Given the description of an element on the screen output the (x, y) to click on. 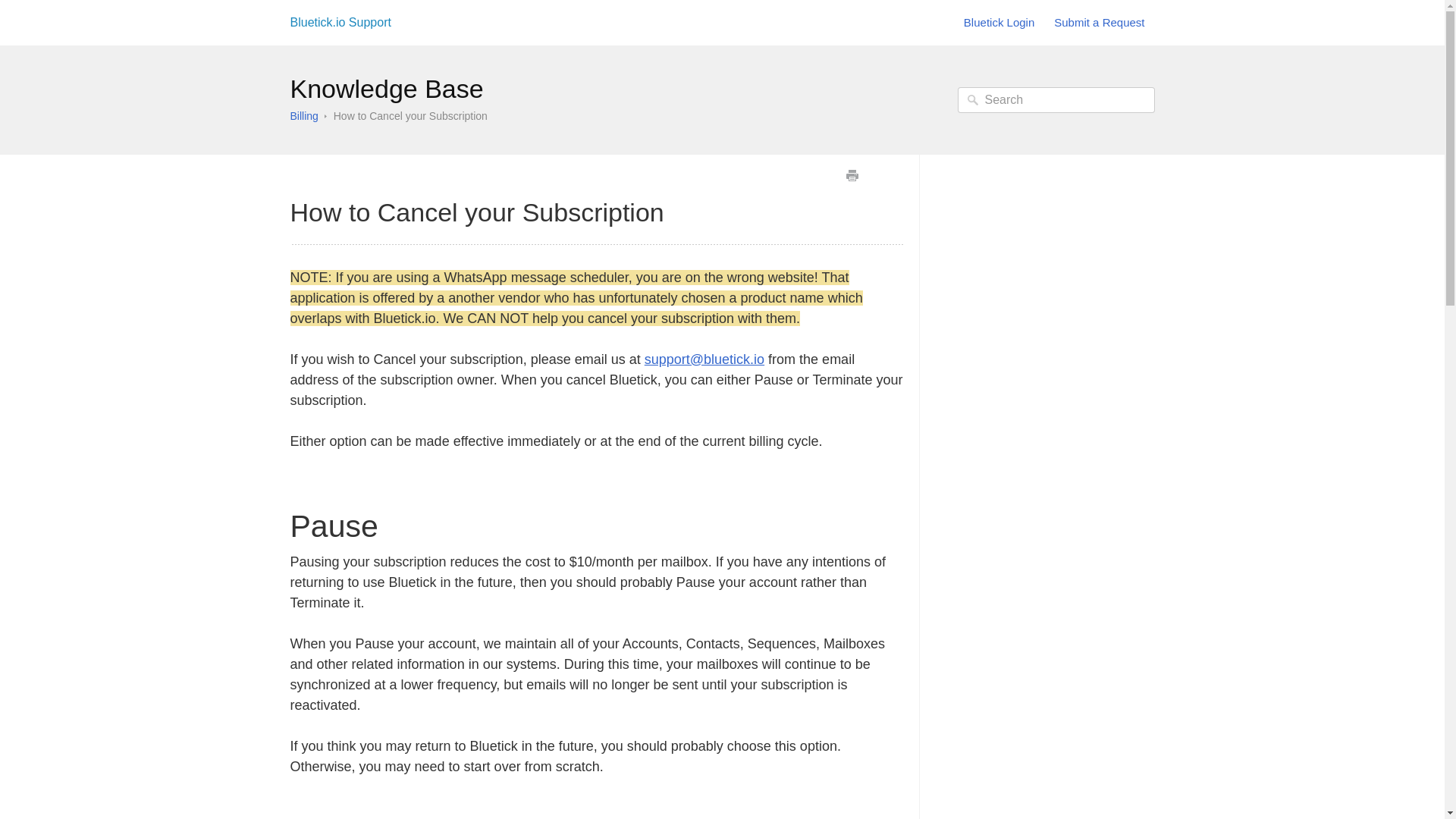
Submit a Request (1099, 22)
Billing (303, 115)
Bluetick.io Support (339, 22)
Knowledge Base (386, 88)
Print this article (851, 175)
How to Cancel your Subscription (410, 115)
Bluetick Login (998, 22)
Print (851, 175)
